Given the description of an element on the screen output the (x, y) to click on. 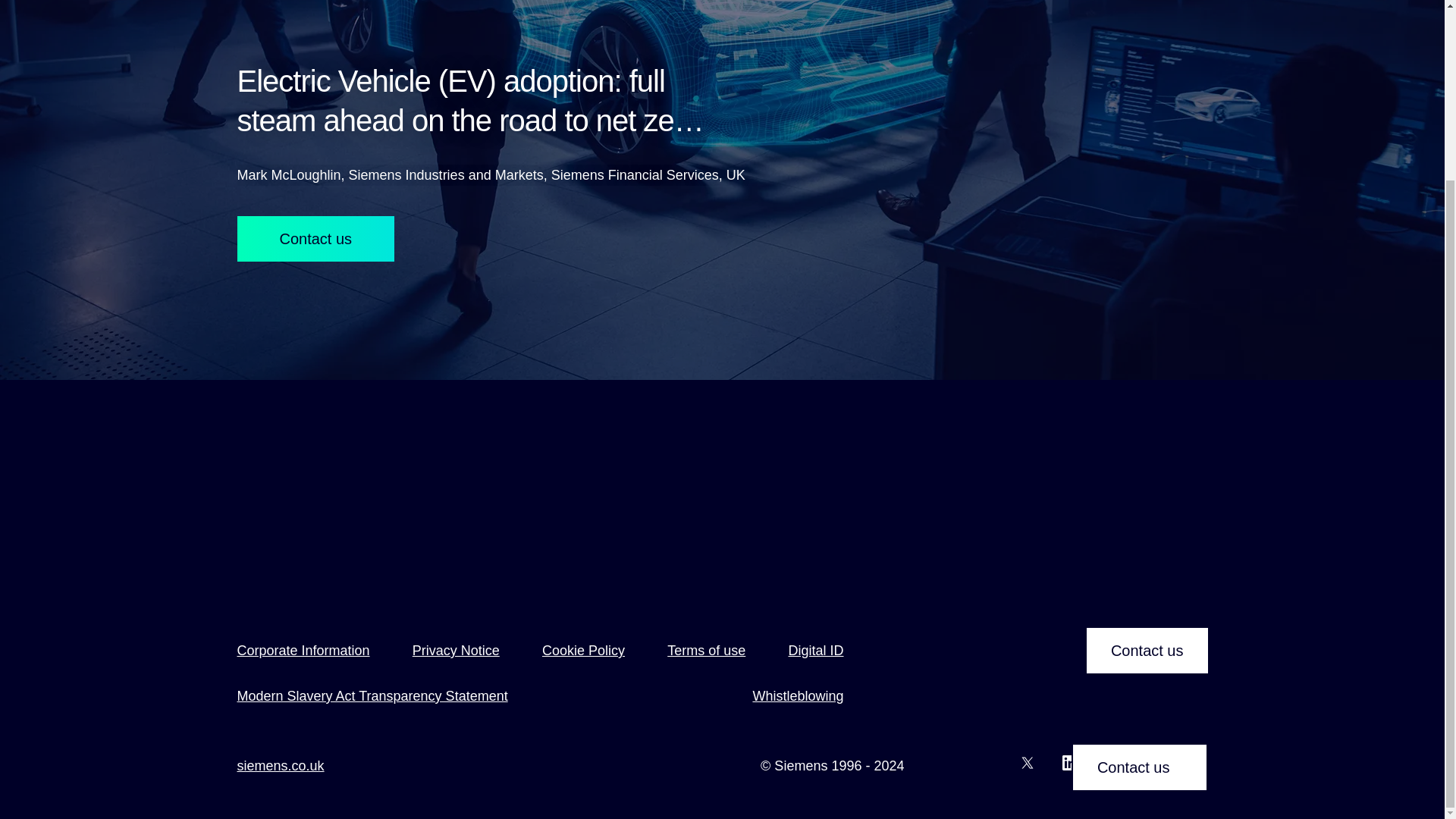
Corporate Information (302, 650)
Contact us (1139, 545)
Cookie Policy (582, 650)
Terms of use (705, 650)
siemens.co.uk (279, 765)
Whistleblowing (797, 695)
Contact us (1147, 650)
Digital ID (815, 650)
Privacy Notice (455, 650)
Contact us (314, 238)
